Given the description of an element on the screen output the (x, y) to click on. 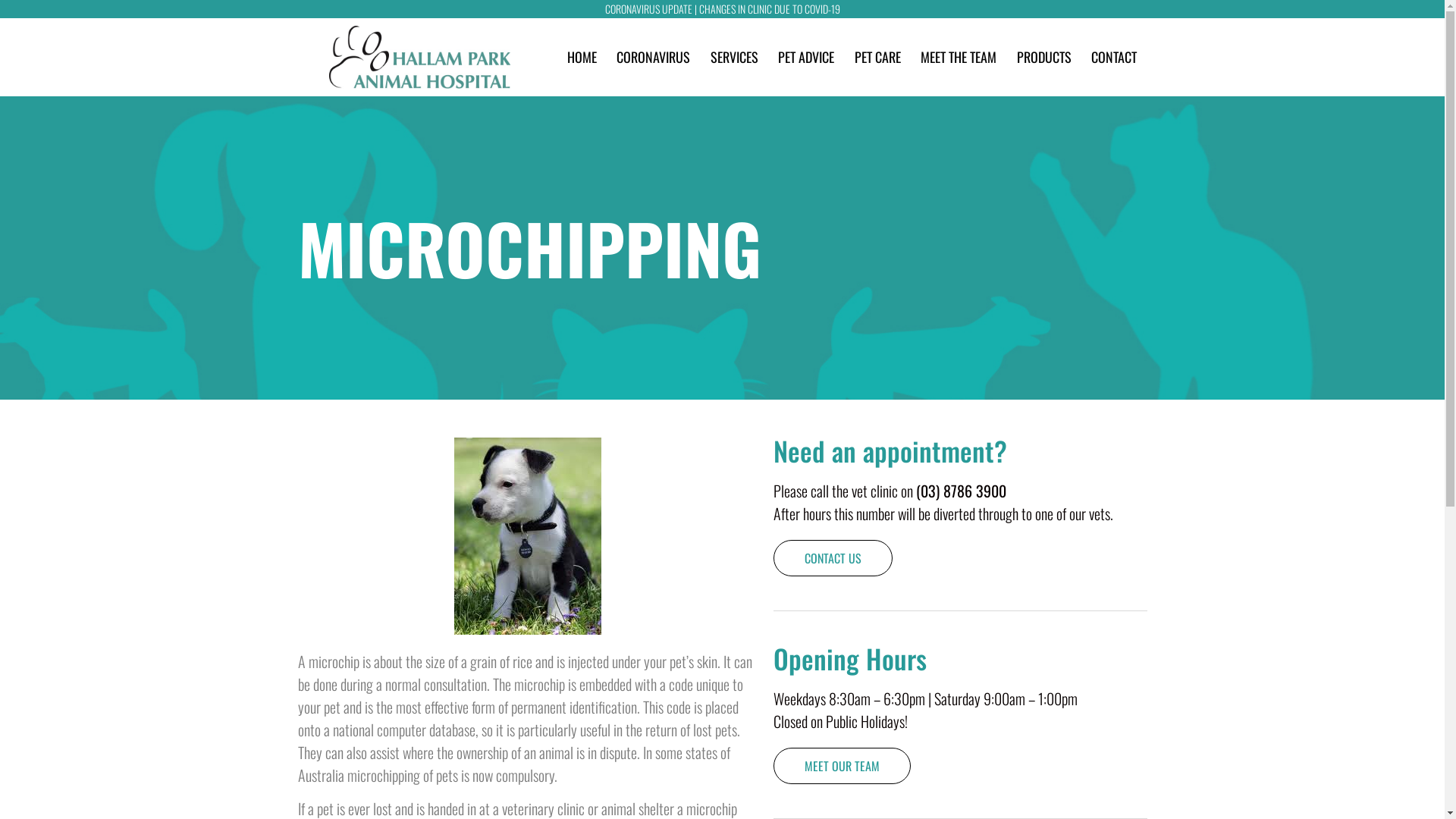
PET ADVICE Element type: text (806, 56)
CORONAVIRUS Element type: text (652, 56)
CONTACT US Element type: text (832, 557)
PET CARE Element type: text (877, 56)
PRODUCTS Element type: text (1044, 56)
MEET THE TEAM Element type: text (958, 56)
MEET OUR TEAM Element type: text (841, 765)
CONTACT Element type: text (1113, 56)
HOME Element type: text (581, 56)
SERVICES Element type: text (734, 56)
